Given the description of an element on the screen output the (x, y) to click on. 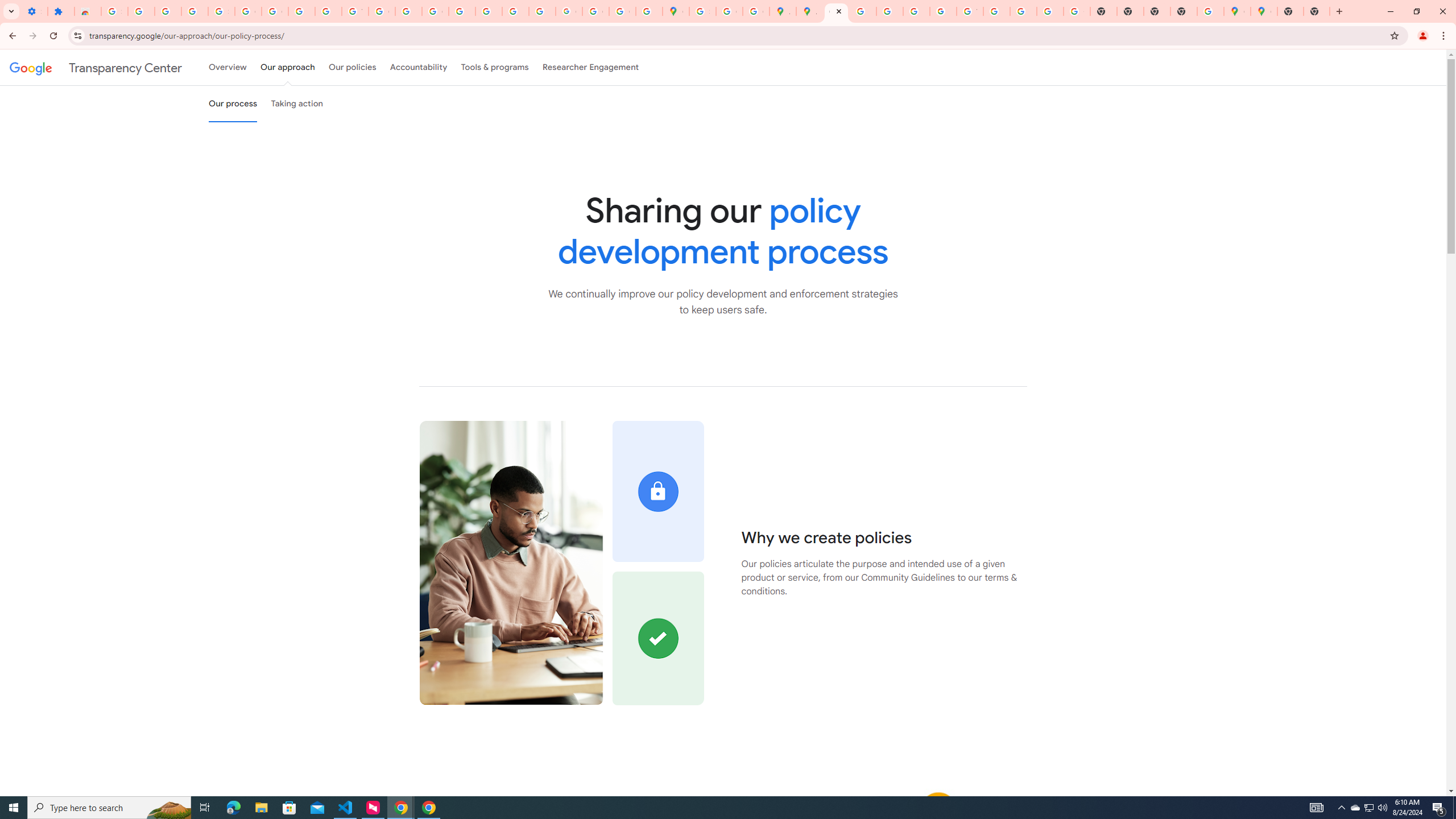
Browse Chrome as a guest - Computer - Google Chrome Help (996, 11)
Researcher Engagement (590, 67)
Privacy Help Center - Policies Help (889, 11)
Accountability (418, 67)
Sign in - Google Accounts (702, 11)
Extensions (61, 11)
Sign in - Google Accounts (114, 11)
New Tab (1183, 11)
Google Maps (676, 11)
